Given the description of an element on the screen output the (x, y) to click on. 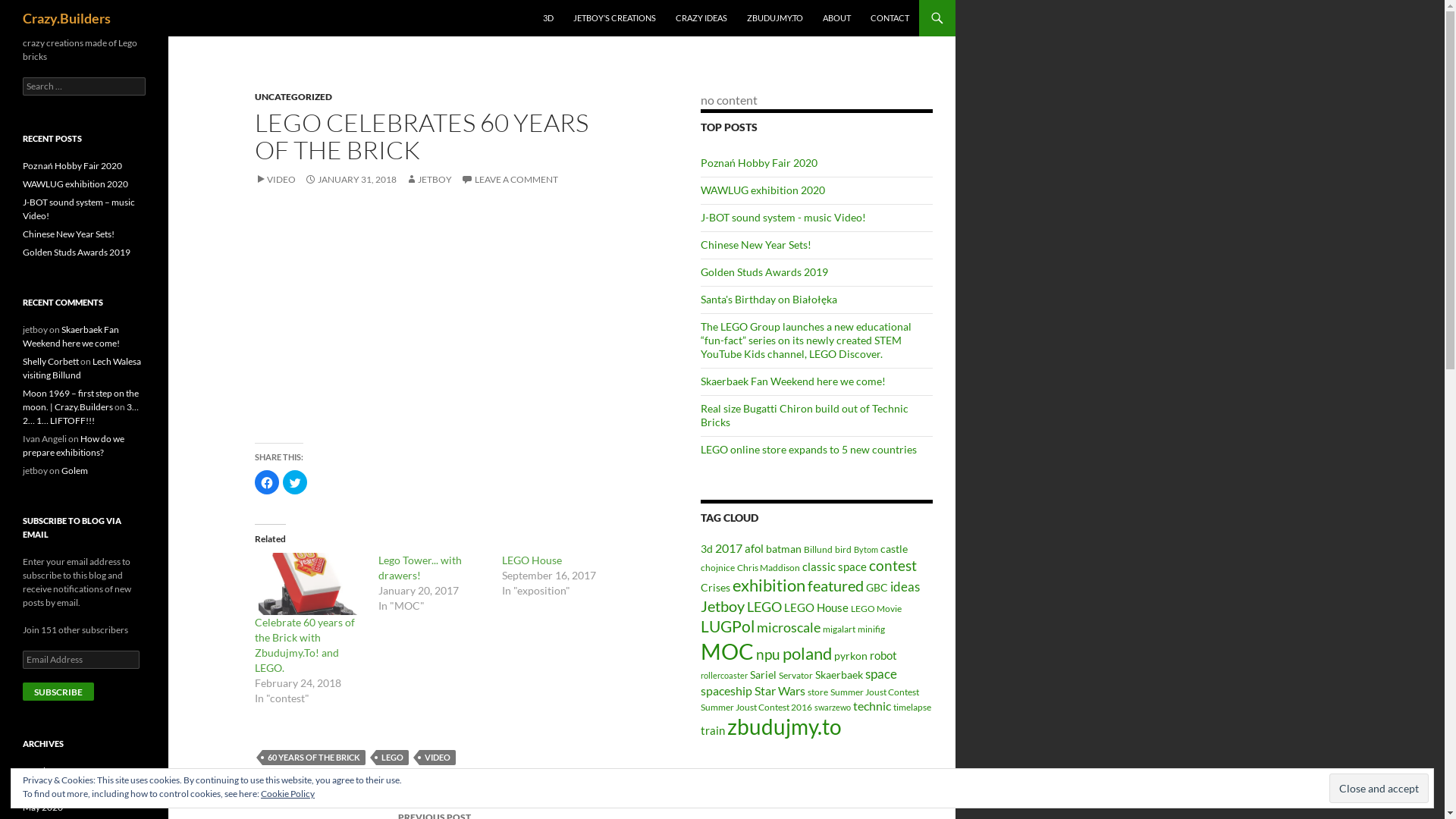
ideas Element type: text (904, 586)
Skaerbaek Fan Weekend here we come! Element type: text (792, 380)
CONTACT Element type: text (889, 18)
LEGO House Element type: text (816, 607)
May 2020 Element type: text (42, 806)
SUBSCRIBE Element type: text (58, 691)
How do we prepare exhibitions? Element type: text (73, 445)
rollercoaster Element type: text (723, 675)
poland Element type: text (806, 653)
LEGO Element type: text (392, 757)
Skaerbaek Fan Weekend here we come! Element type: text (70, 335)
Golden Studs Awards 2019 Element type: text (764, 271)
pyrkon Element type: text (850, 655)
Summer Joust Contest 2016 Element type: text (756, 706)
microscale Element type: text (788, 626)
Golden Studs Awards 2019 Element type: text (76, 251)
afol Element type: text (753, 548)
train Element type: text (712, 730)
LUGPol Element type: text (727, 626)
Celebrate 60 years of the Brick with Zbudujmy.To! and LEGO. Element type: text (304, 644)
60 YEARS OF THE BRICK Element type: text (313, 757)
bird Element type: text (842, 549)
Jetboy Element type: text (722, 605)
spaceship Element type: text (726, 690)
Skaerbaek Element type: text (838, 674)
robot Element type: text (883, 655)
exhibition Element type: text (768, 584)
LEGO Element type: text (763, 606)
MOC Element type: text (726, 650)
Golem Element type: text (74, 470)
ABOUT Element type: text (836, 18)
2017 Element type: text (728, 548)
Chinese New Year Sets! Element type: text (755, 244)
JETBOY Element type: text (428, 179)
Crazy.Builders Element type: text (66, 18)
castle Element type: text (893, 548)
J-BOT sound system - music Video! Element type: text (783, 216)
3D Element type: text (547, 18)
JANUARY 31, 2018 Element type: text (350, 179)
Lego Tower... with drawers! Element type: text (419, 567)
Search Element type: text (29, 9)
3d Element type: text (706, 548)
WAWLUG exhibition 2020 Element type: text (75, 183)
space Element type: text (881, 673)
Cookie Policy Element type: text (287, 793)
classic space Element type: text (834, 566)
VIDEO Element type: text (274, 179)
LEGO online store expands to 5 new countries Element type: text (808, 448)
zbudujmy.to Element type: text (784, 726)
npu Element type: text (768, 653)
Chinese New Year Sets! Element type: text (68, 233)
Celebrate 60 years of the Brick with Zbudujmy.To! and LEGO. Element type: hover (308, 583)
Billund Element type: text (817, 549)
contest Element type: text (892, 565)
VIDEO Element type: text (437, 757)
Click to share on Twitter (Opens in new window) Element type: text (294, 482)
UNCATEGORIZED Element type: text (293, 96)
chojnice Element type: text (717, 567)
LEAVE A COMMENT Element type: text (509, 179)
GBC Element type: text (877, 587)
batman Element type: text (783, 548)
Summer Joust Contest Element type: text (874, 691)
store Element type: text (817, 691)
June 2020 Element type: text (43, 788)
swarzewo Element type: text (832, 707)
Crises Element type: text (715, 587)
timelapse Element type: text (912, 706)
Sariel Element type: text (762, 674)
CRAZY IDEAS Element type: text (701, 18)
featured Element type: text (835, 585)
Servator Element type: text (795, 674)
LEGO House Element type: text (531, 559)
minifig Element type: text (870, 628)
WAWLUG exhibition 2020 Element type: text (762, 189)
ZBUDUJMY.TO Element type: text (774, 18)
Bytom Element type: text (865, 549)
Close and accept Element type: text (1378, 788)
LEGO Movie Element type: text (875, 608)
Real size Bugatti Chiron build out of Technic Bricks Element type: text (804, 414)
Click to share on Facebook (Opens in new window) Element type: text (266, 482)
Star Wars Element type: text (779, 690)
Shelly Corbett Element type: text (50, 361)
migalart Element type: text (838, 628)
October 2020 Element type: text (50, 770)
technic Element type: text (872, 705)
Lech Walesa visiting Billund Element type: text (81, 367)
Chris Maddison Element type: text (768, 567)
